Given the description of an element on the screen output the (x, y) to click on. 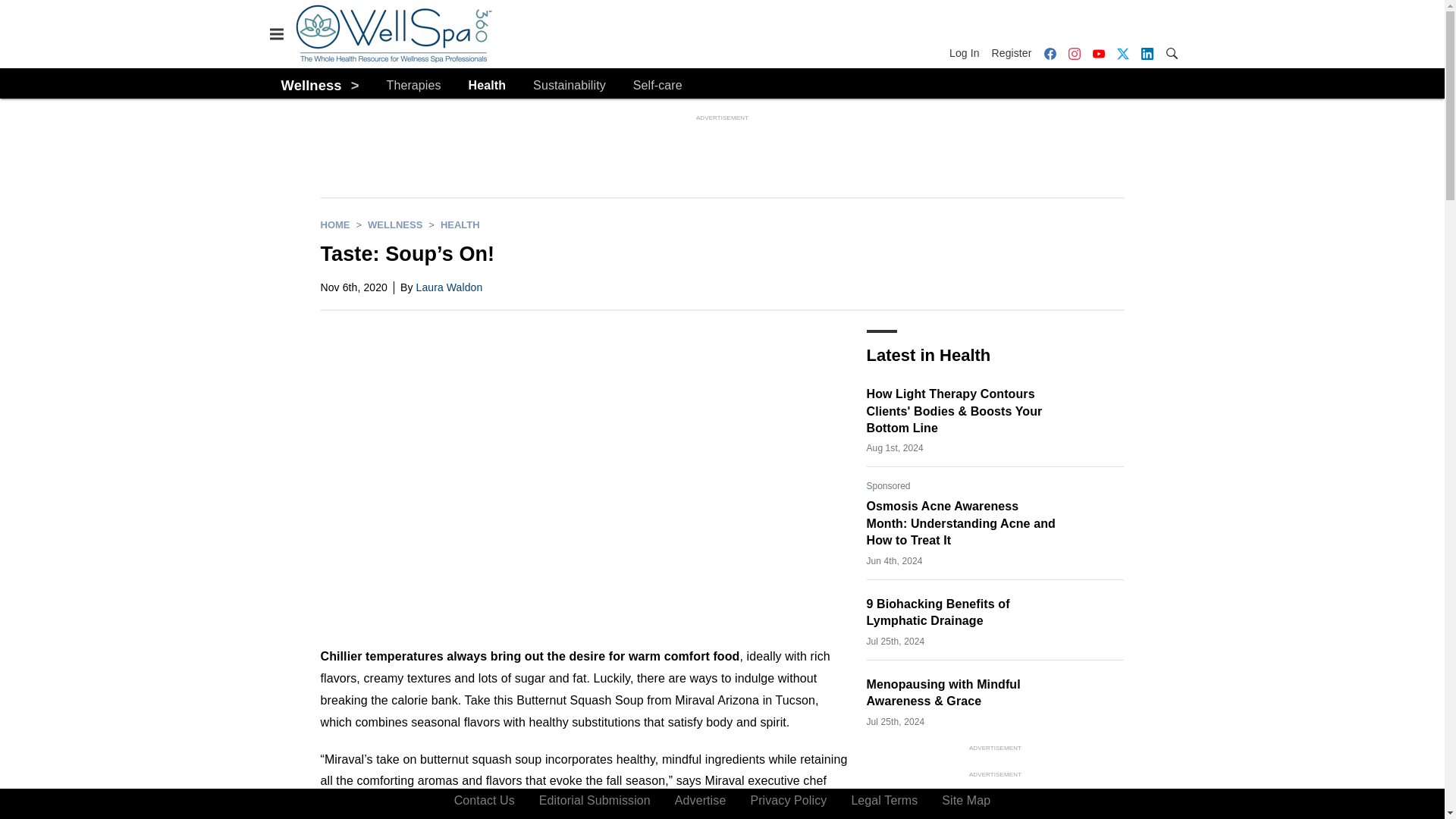
YouTube icon (1097, 53)
Home (334, 224)
Twitter X icon (1121, 53)
Sponsored (888, 485)
LinkedIn icon (1146, 53)
YouTube icon (1097, 53)
Sustainability (568, 85)
Facebook icon (1048, 53)
Instagram icon (1073, 53)
Wellness (310, 85)
Search (1170, 51)
Health (460, 224)
Facebook icon (1049, 53)
Register (1011, 53)
Instagram icon (1073, 53)
